Given the description of an element on the screen output the (x, y) to click on. 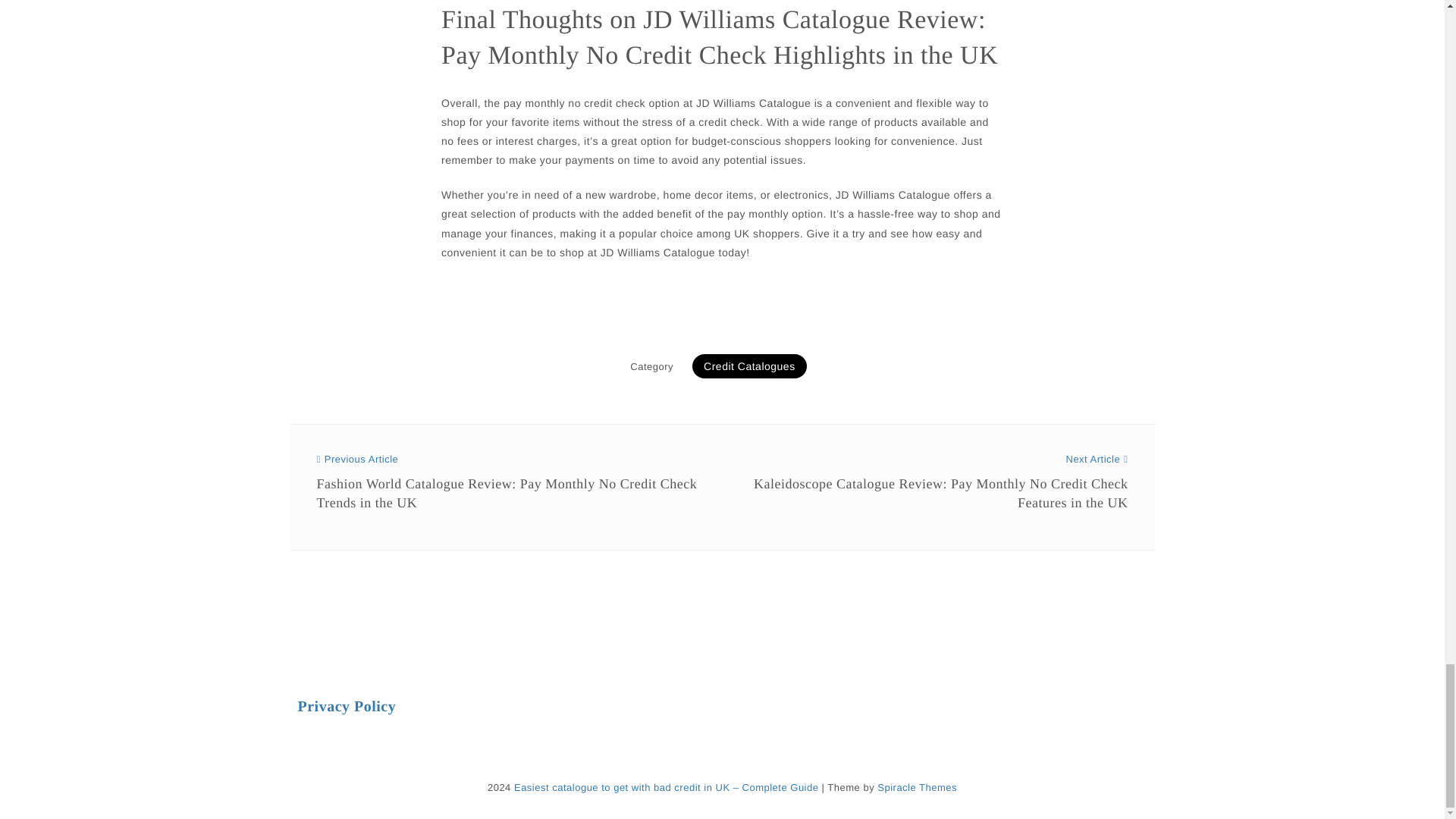
Credit Catalogues (749, 365)
Spiracle Themes (916, 787)
Privacy Policy (346, 706)
